Given the description of an element on the screen output the (x, y) to click on. 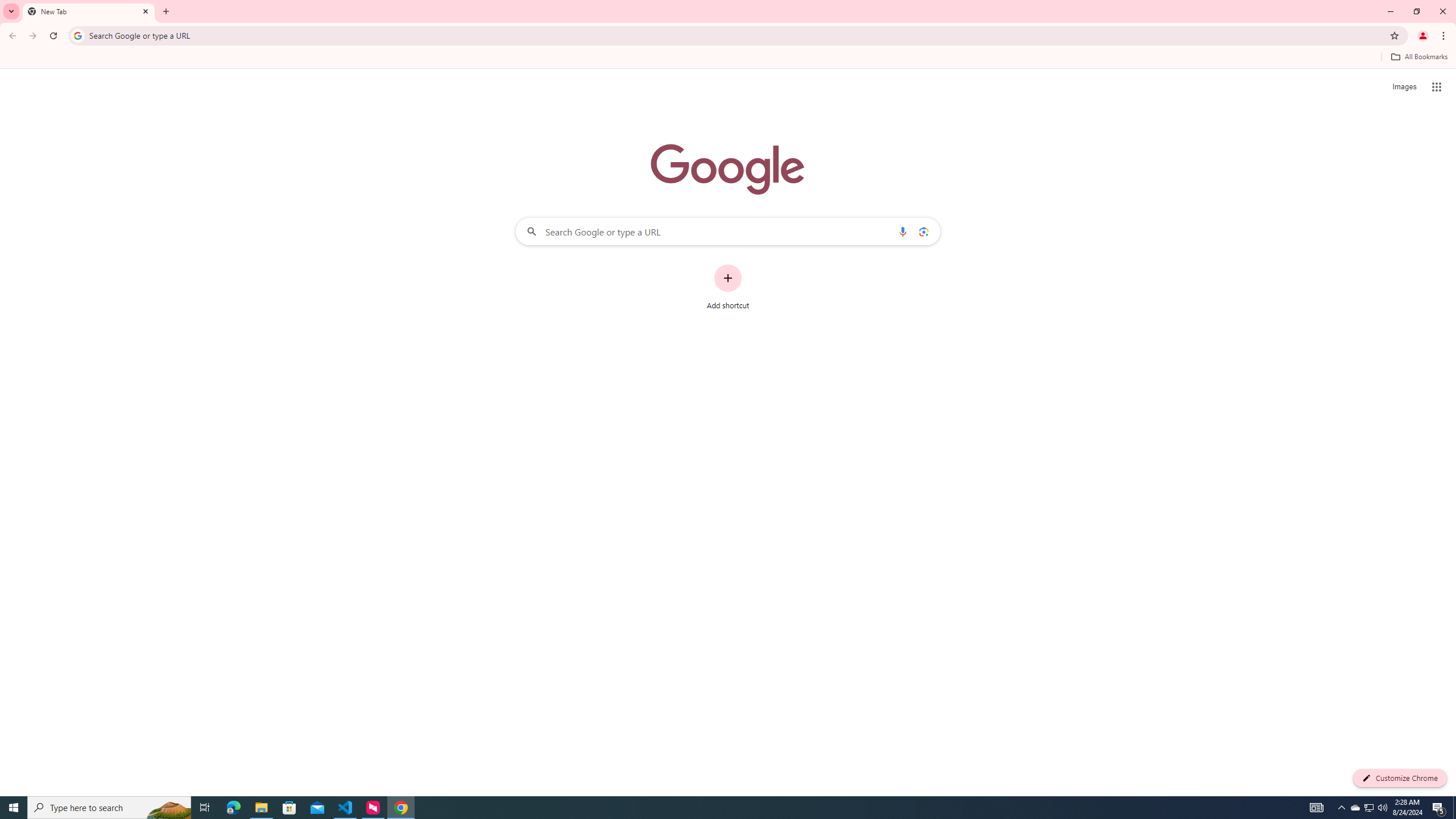
Search by image (922, 230)
Search Google or type a URL (727, 230)
Search icon (77, 35)
All Bookmarks (1418, 56)
Google apps (1436, 86)
Search for Images  (1403, 87)
